Given the description of an element on the screen output the (x, y) to click on. 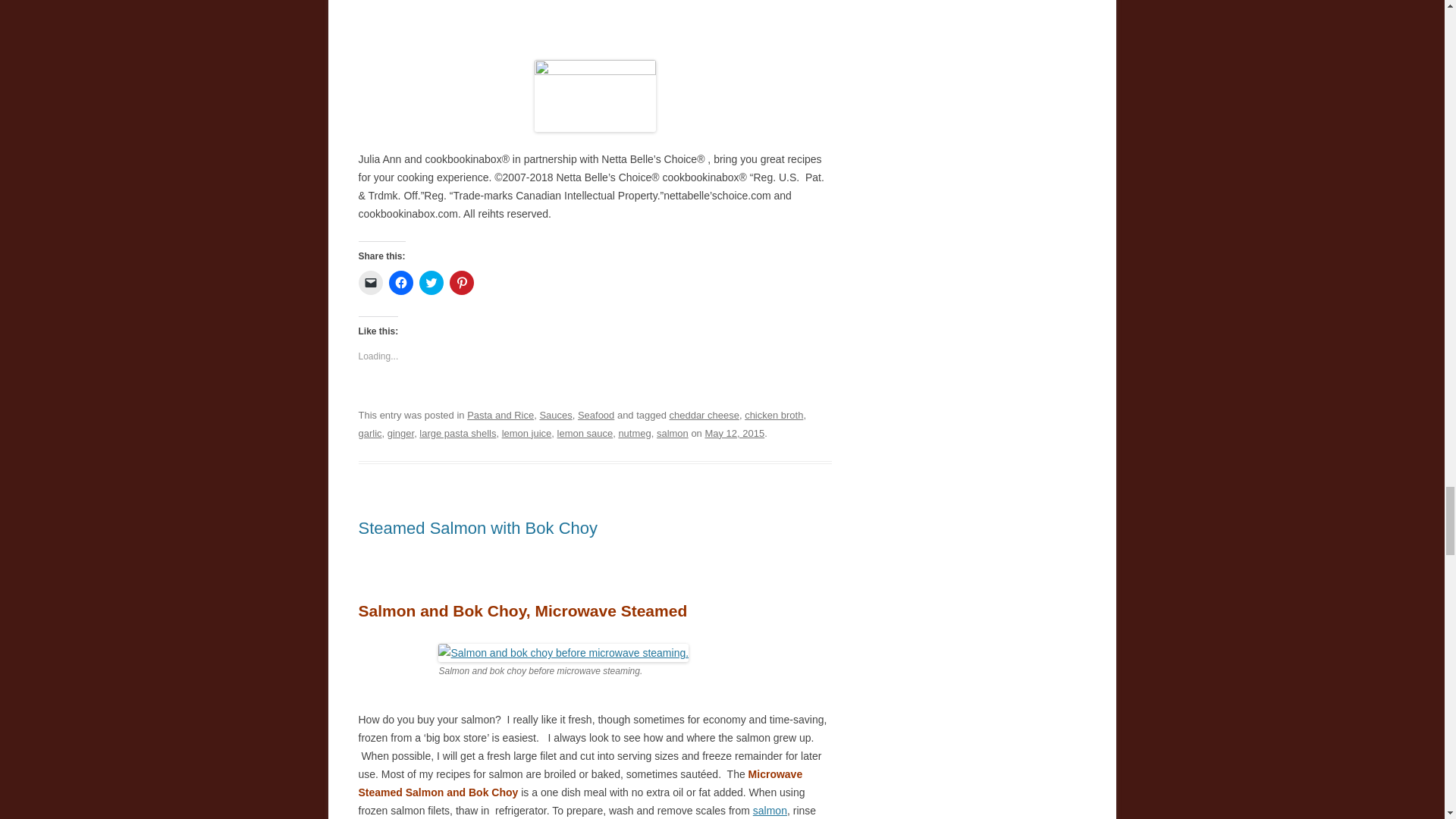
Click to share on Facebook (400, 282)
Click to email a link to a friend (369, 282)
Click to share on Twitter (430, 282)
2:40 pm (734, 432)
Click to share on Pinterest (460, 282)
